Given the description of an element on the screen output the (x, y) to click on. 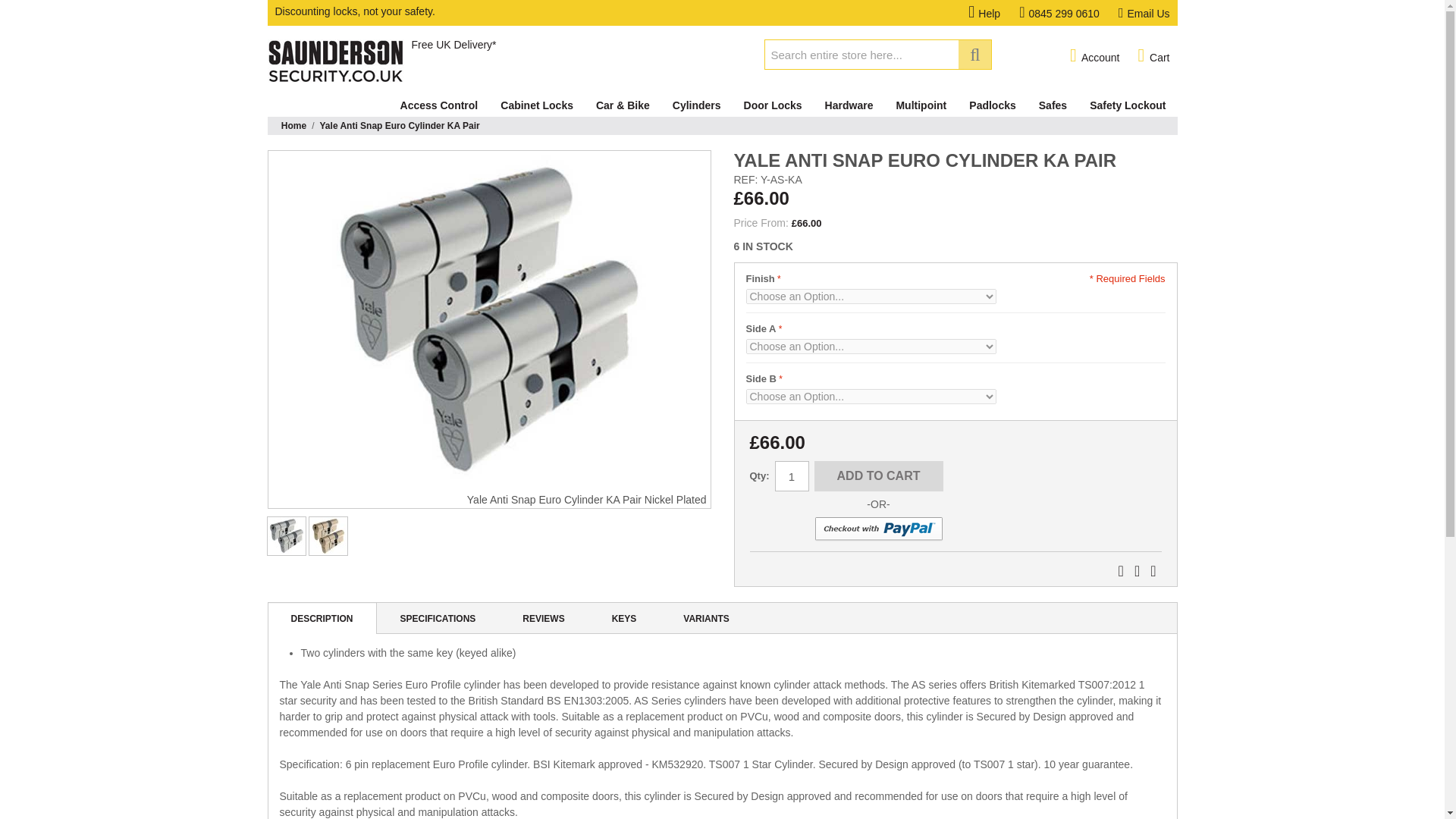
Yale Anti Snap Euro Cylinder KA Pair Nickel Plated (488, 321)
Qty (791, 476)
Yale Anti Snap Euro Cylinder KA Pair Brass (327, 536)
Cart (1152, 55)
Cabinet Locks (537, 105)
See Delivery Terms (453, 44)
Help (993, 13)
Checkout with PayPal (878, 528)
Email Us (1144, 13)
Account (1094, 55)
Access Control (438, 105)
Yale Anti Snap Euro Cylinder KA Pair Nickel Plated (285, 536)
Add to Cart (878, 476)
Help (993, 13)
Search (974, 54)
